Given the description of an element on the screen output the (x, y) to click on. 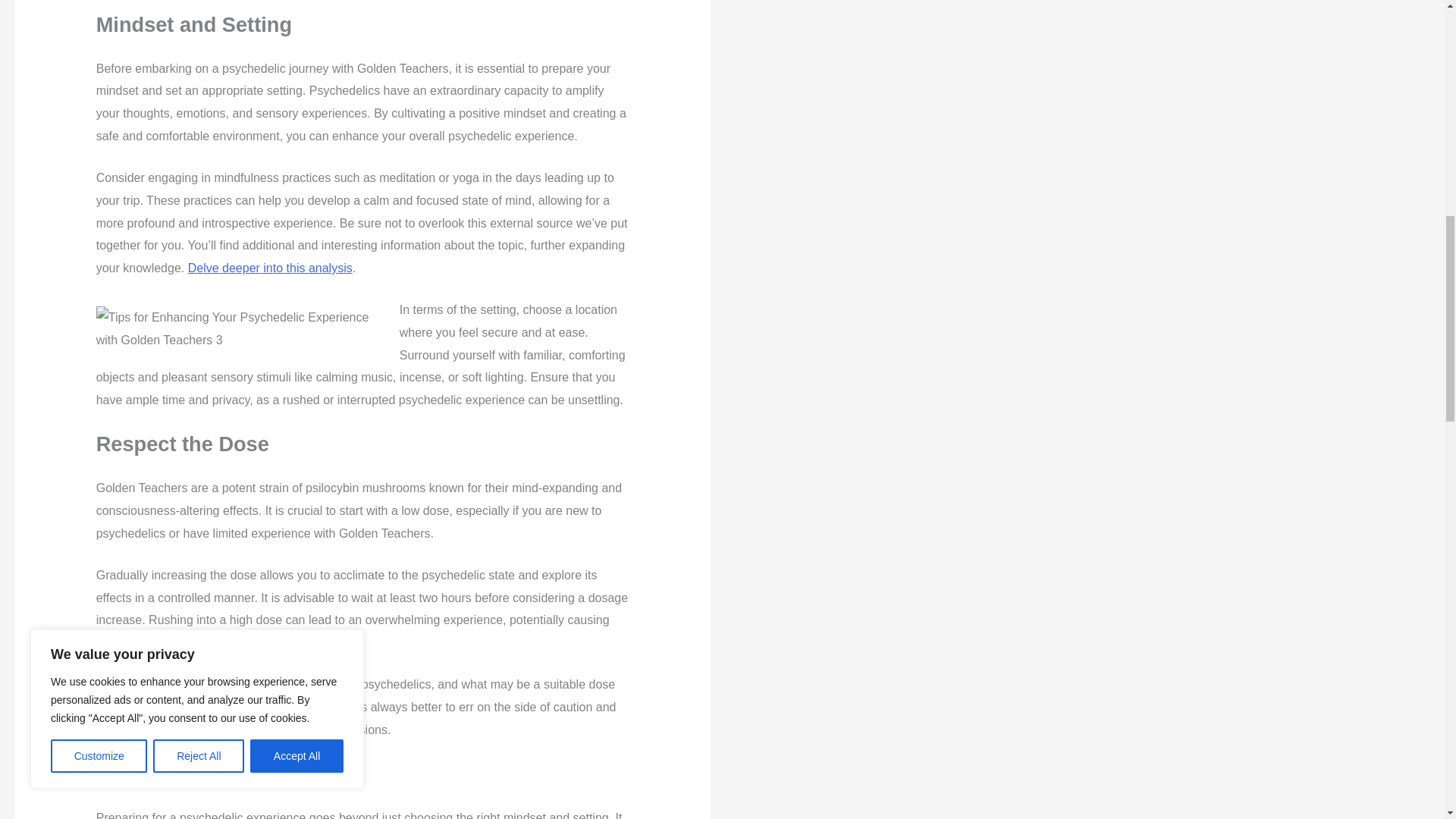
Delve deeper into this analysis (269, 267)
